Given the description of an element on the screen output the (x, y) to click on. 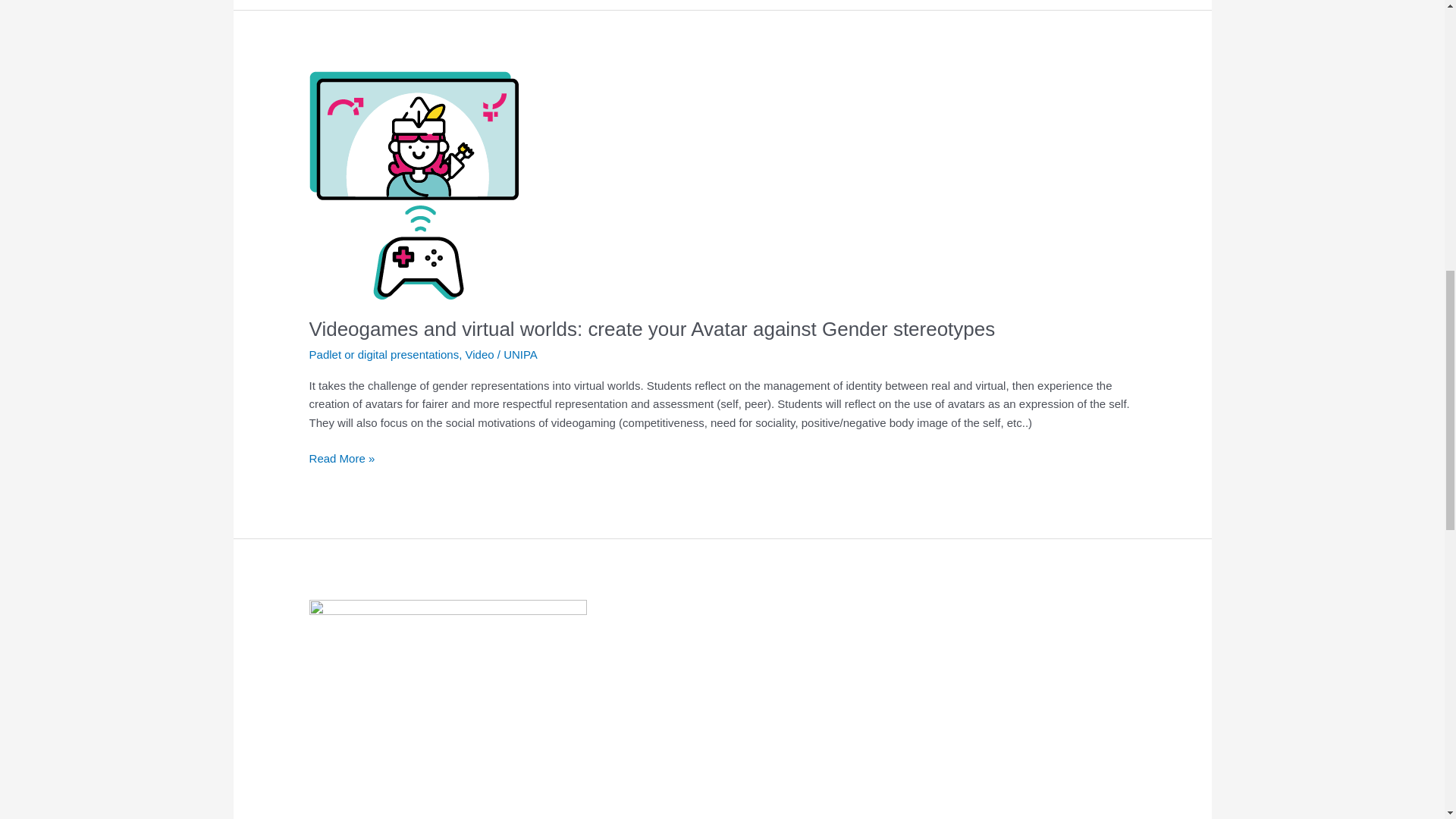
View all posts by UNIPA (520, 354)
